Given the description of an element on the screen output the (x, y) to click on. 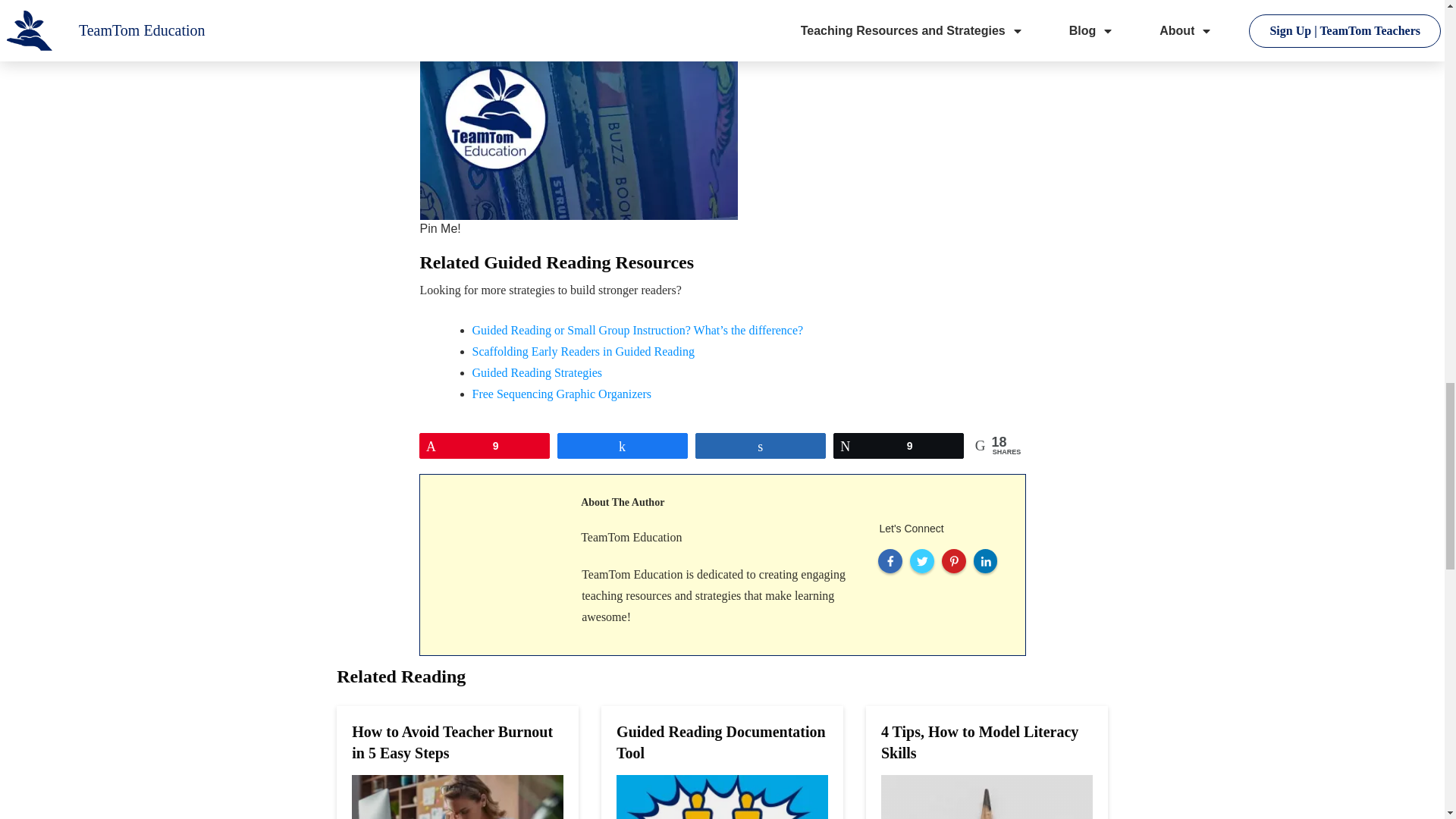
Guided Reading Documentation Tool (720, 742)
How to Avoid Teacher Burnout in 5 Easy Steps (452, 742)
4 Tips, How to Model Literacy Skills (979, 742)
Photo by Robyn Budlender (579, 110)
